Given the description of an element on the screen output the (x, y) to click on. 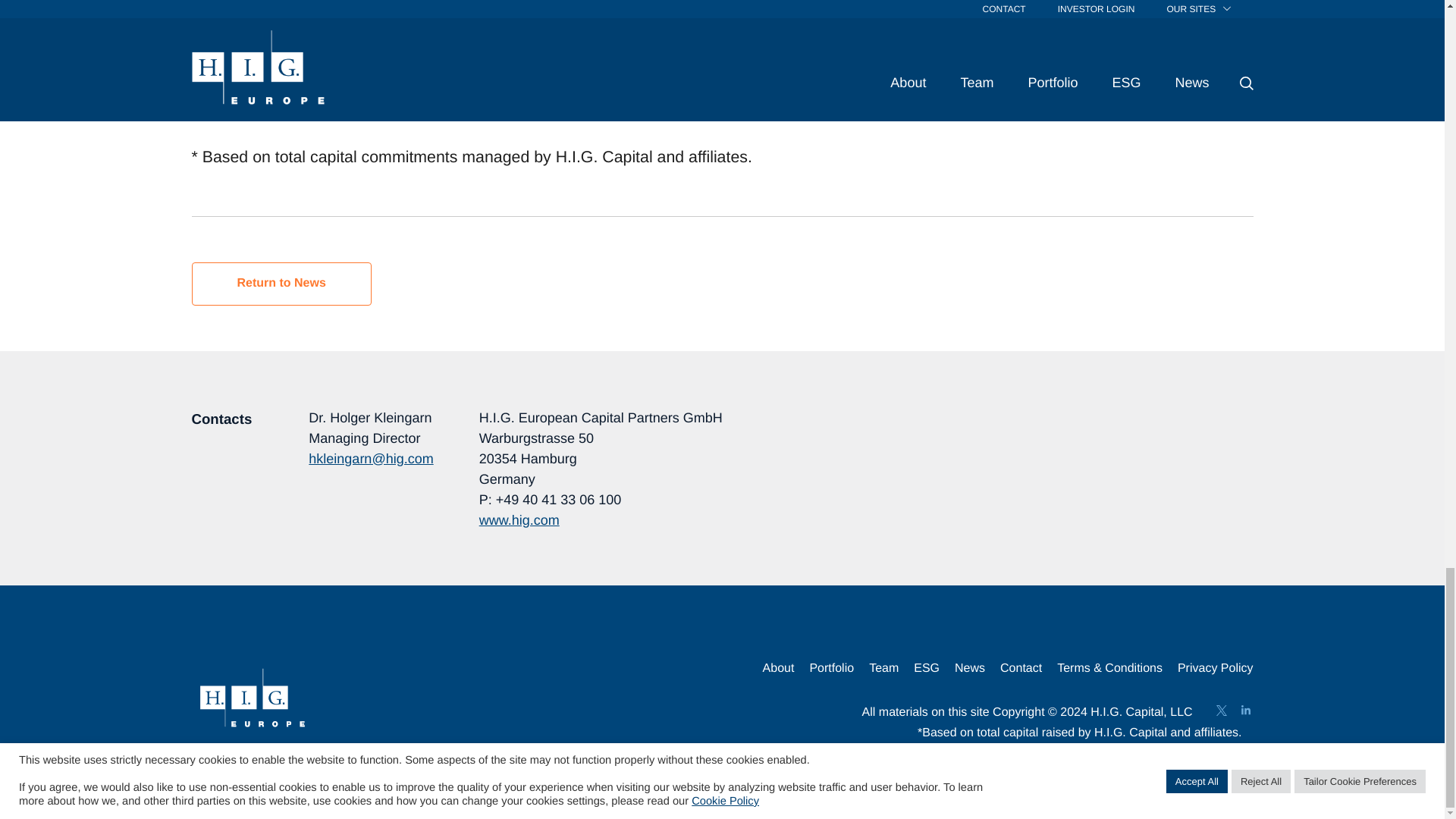
Return to News (280, 283)
Twitter (1221, 710)
Portfolio (831, 670)
www.hig.com (519, 519)
News (970, 670)
Privacy Policy (1215, 670)
www.hig.com (1122, 106)
Contact (1021, 670)
ESG (926, 670)
Team (883, 670)
About (778, 670)
